Given the description of an element on the screen output the (x, y) to click on. 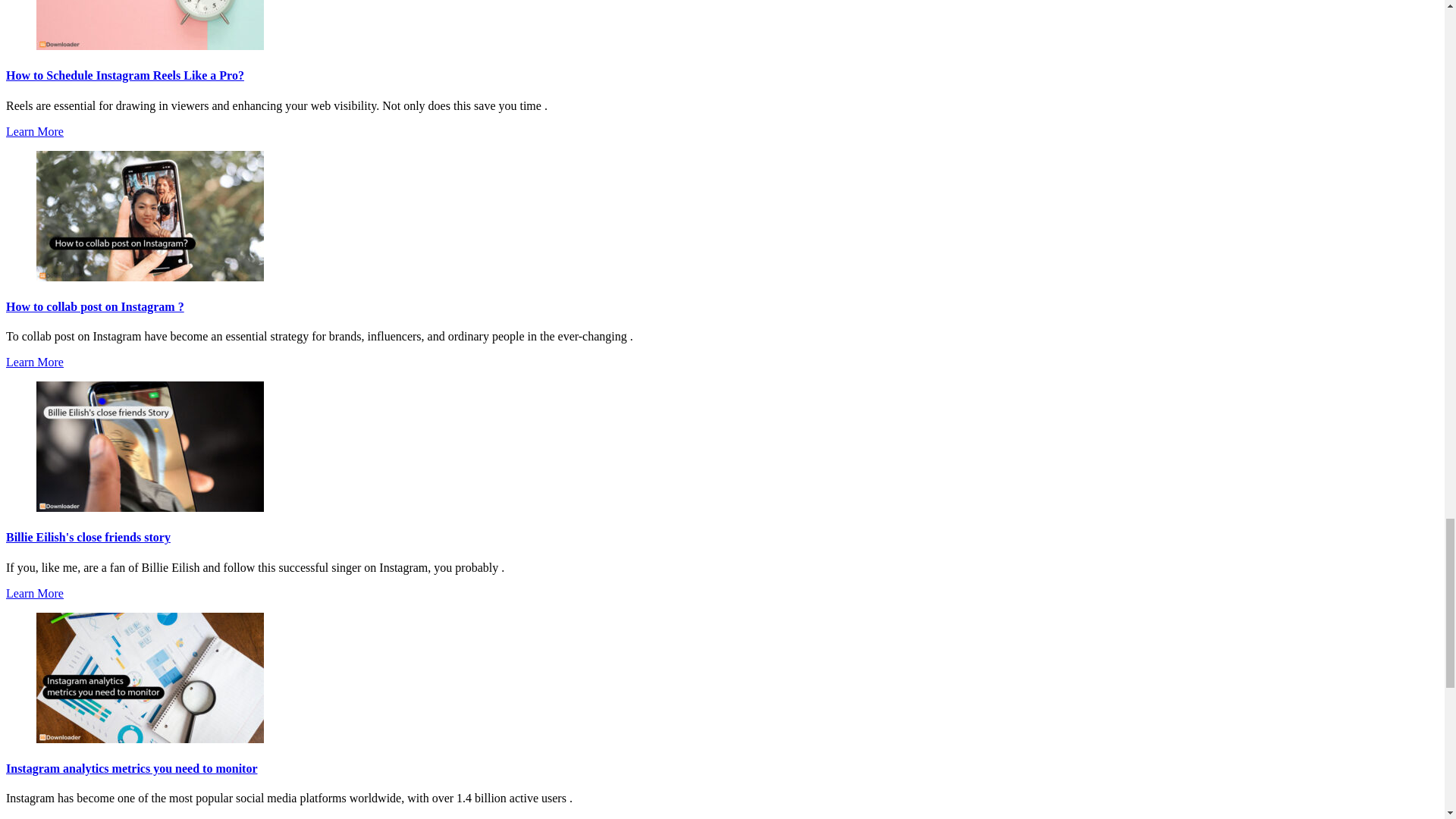
Learn More (34, 130)
How to Schedule Instagram Reels Like a Pro? (124, 74)
How to collab post on Instagram ? (94, 306)
